Given the description of an element on the screen output the (x, y) to click on. 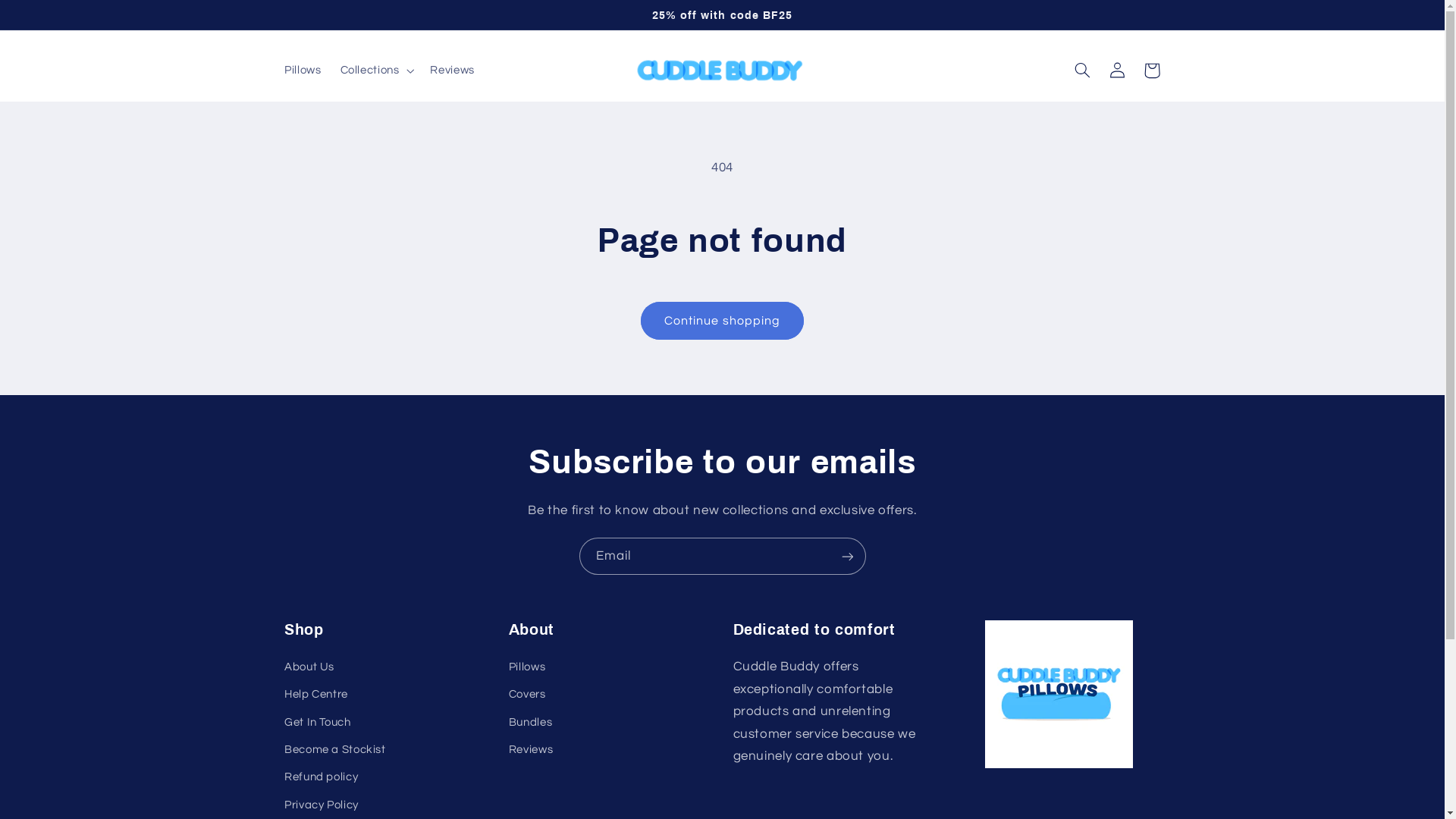
Refund policy Element type: text (320, 776)
Bundles Element type: text (530, 721)
Pillows Element type: text (302, 70)
Reviews Element type: text (530, 749)
Continue shopping Element type: text (722, 319)
Reviews Element type: text (452, 70)
Log in Element type: text (1116, 70)
Get In Touch Element type: text (317, 721)
Become a Stockist Element type: text (334, 749)
Pillows Element type: text (526, 668)
Cart Element type: text (1151, 70)
Covers Element type: text (527, 694)
Help Centre Element type: text (316, 694)
About Us Element type: text (309, 668)
